Given the description of an element on the screen output the (x, y) to click on. 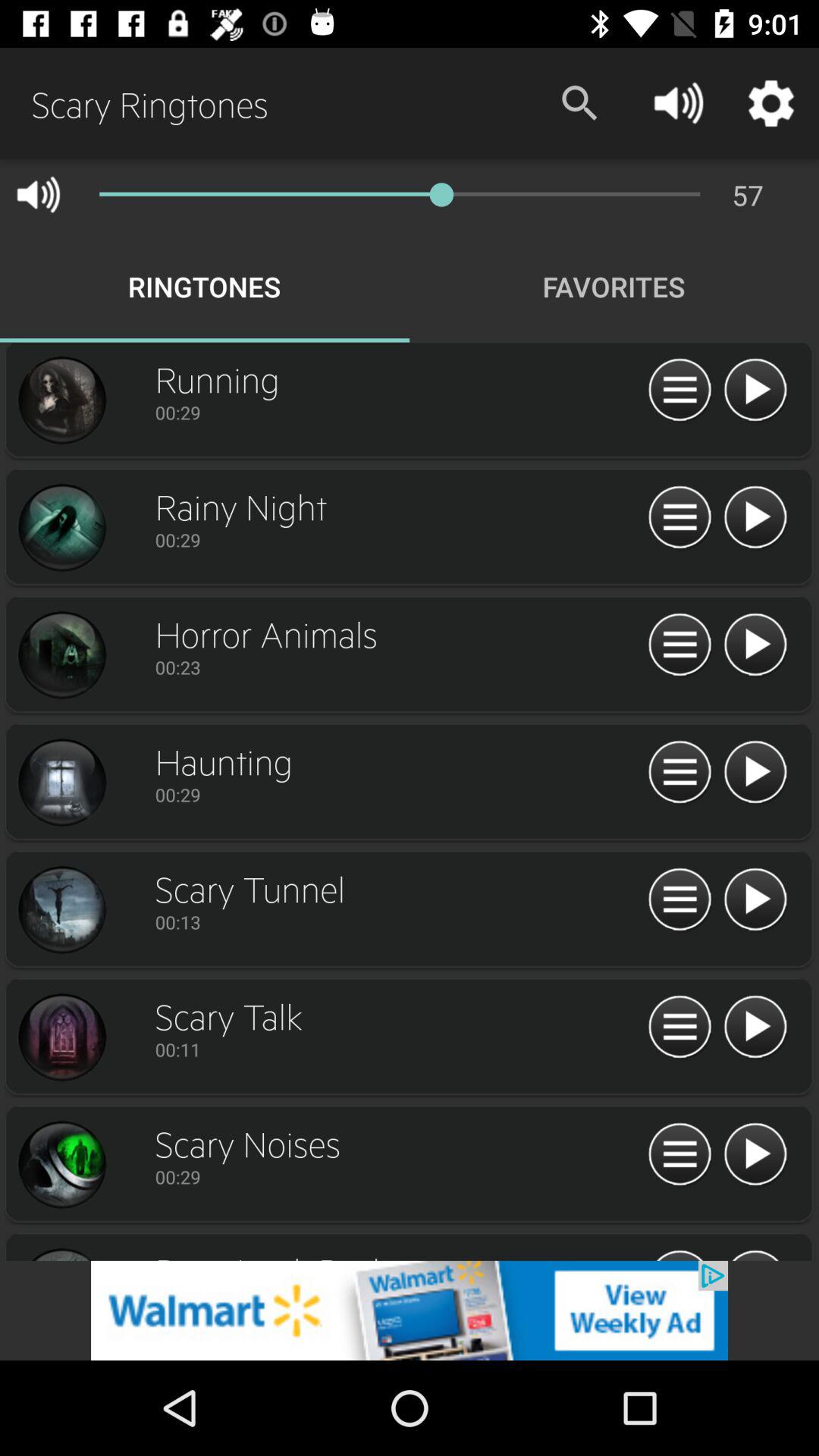
click pause button (679, 772)
